Given the description of an element on the screen output the (x, y) to click on. 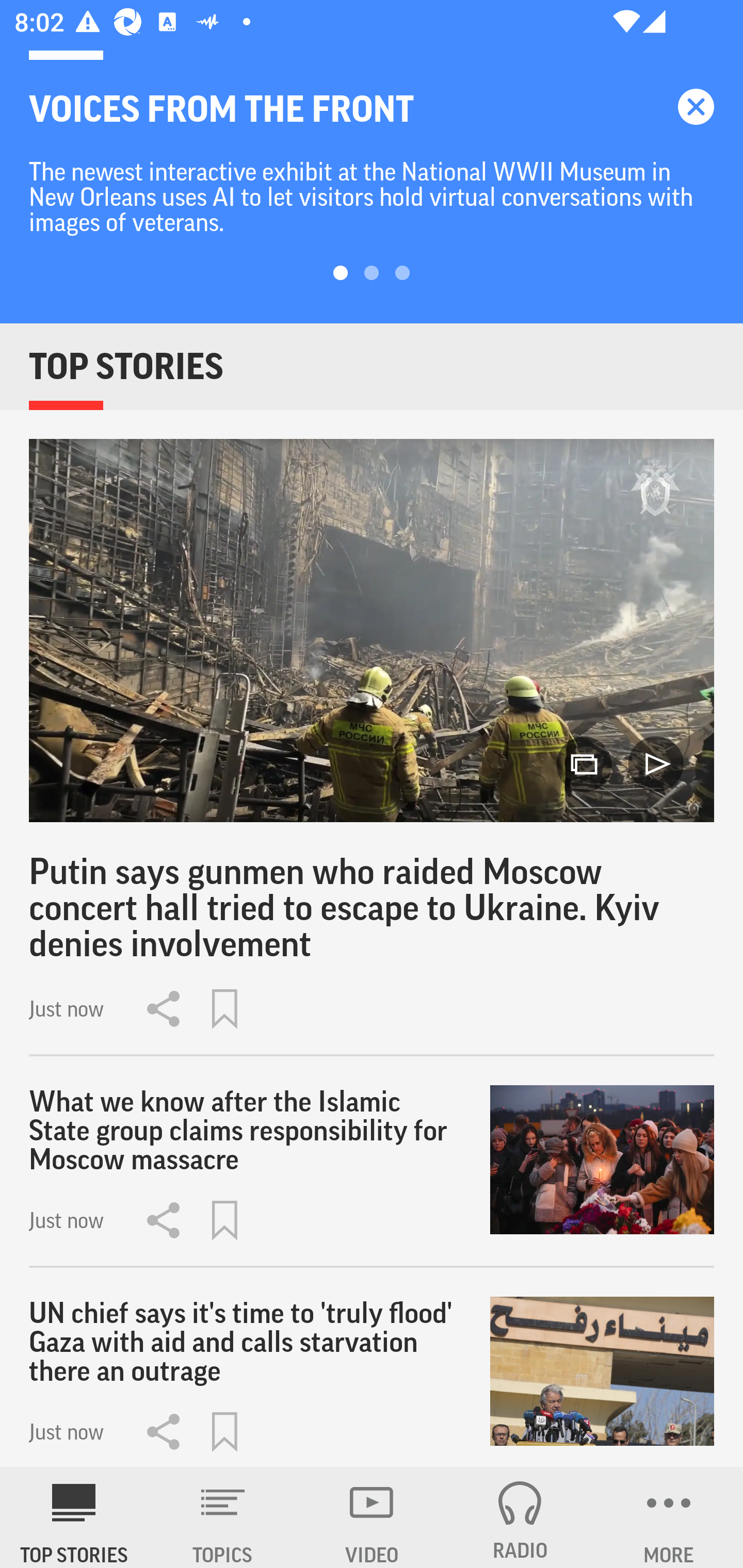
AP News TOP STORIES (74, 1517)
TOPICS (222, 1517)
VIDEO (371, 1517)
RADIO (519, 1517)
MORE (668, 1517)
